Given the description of an element on the screen output the (x, y) to click on. 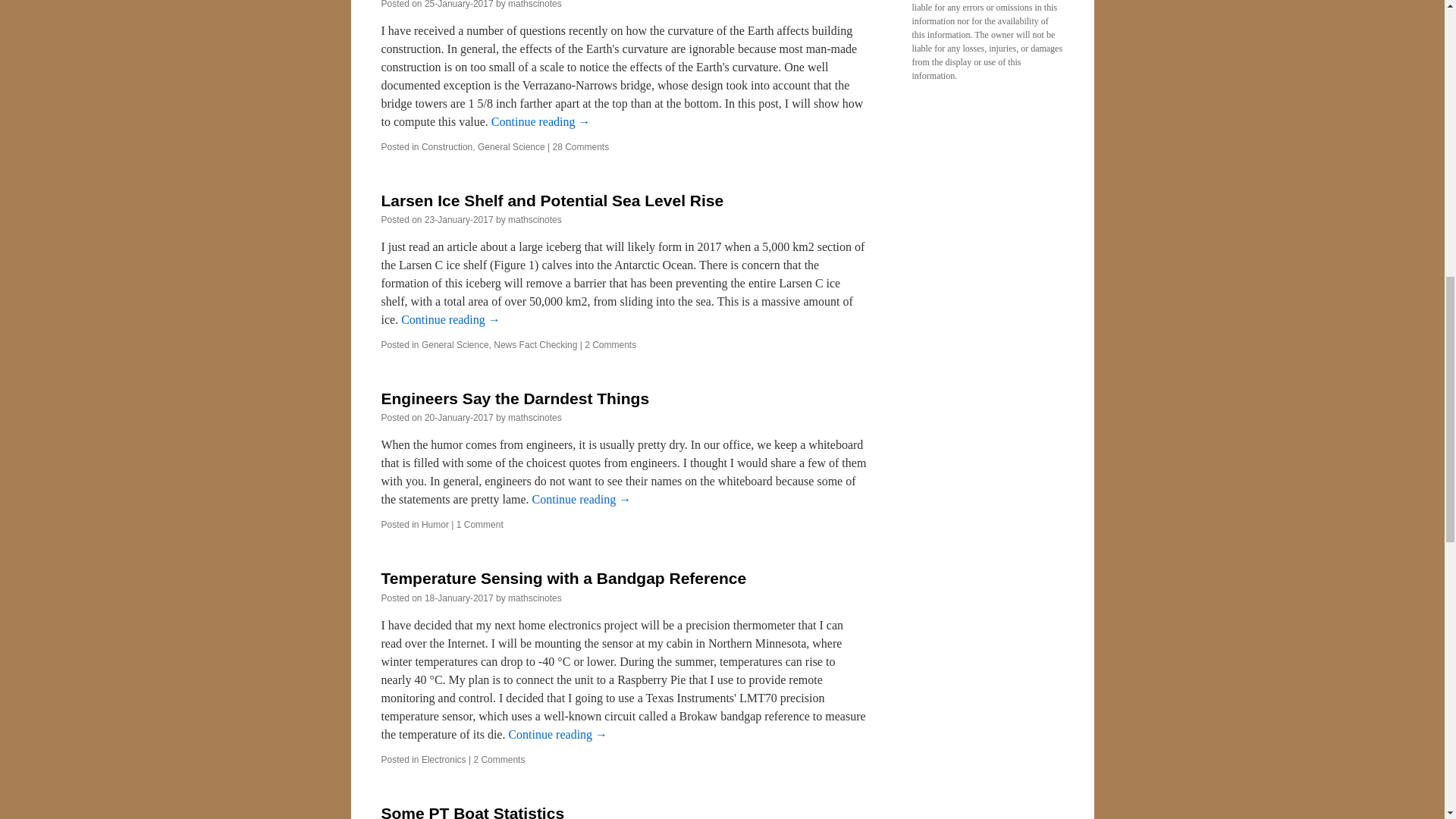
mathscinotes (535, 219)
Larsen Ice Shelf and Potential Sea Level Rise (551, 200)
View all posts by mathscinotes (535, 4)
7:56 am (459, 219)
mathscinotes (535, 4)
View all posts by mathscinotes (535, 417)
News Fact Checking (534, 344)
2 Comments (610, 344)
Temperature Sensing with a Bandgap Reference (562, 578)
20-January-2017 (459, 417)
Construction (446, 146)
General Science (510, 146)
10:10 am (459, 417)
18-January-2017 (459, 597)
mathscinotes (535, 597)
